Given the description of an element on the screen output the (x, y) to click on. 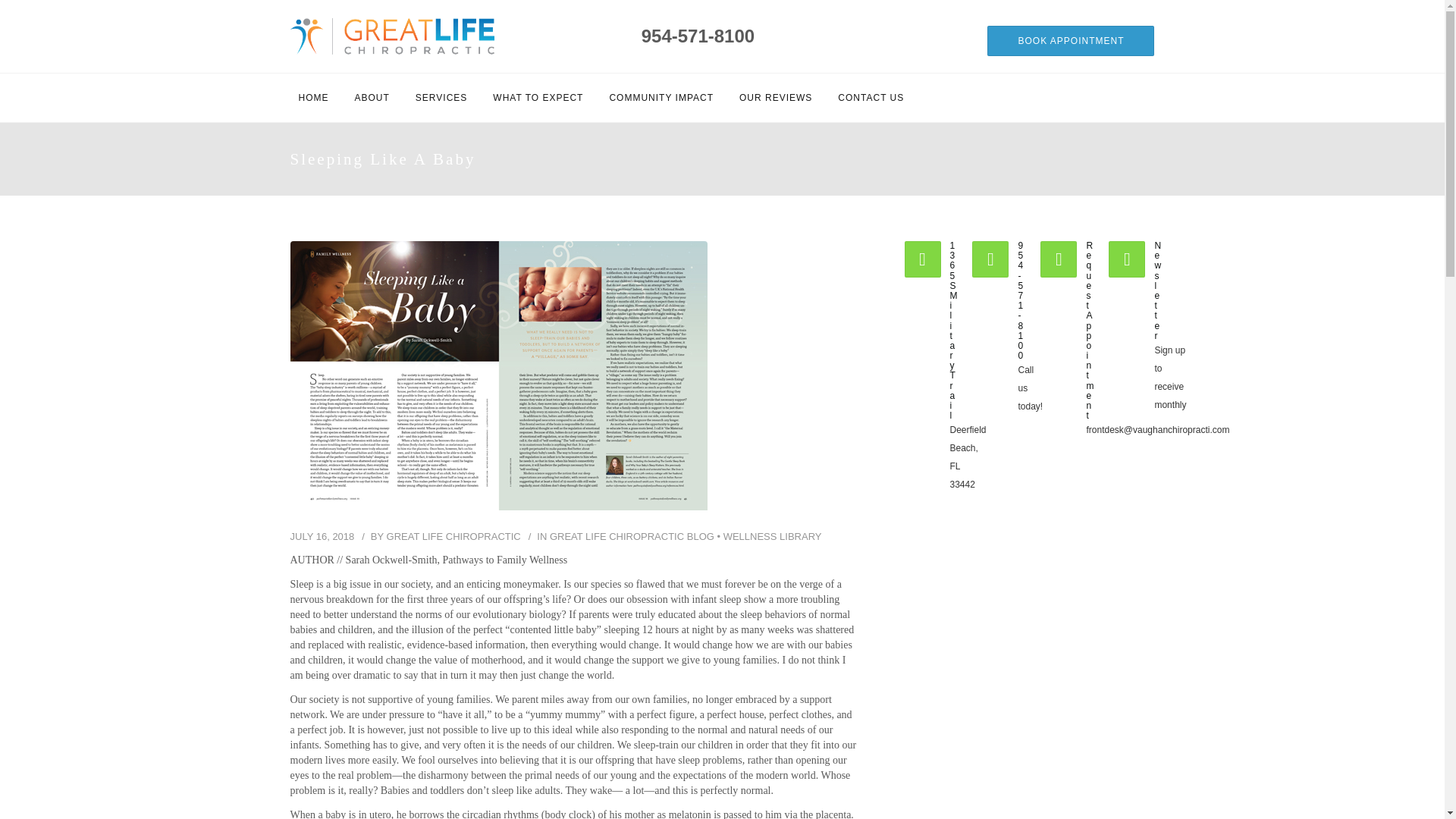
WHAT TO EXPECT (537, 97)
SERVICES (441, 97)
BOOK APPOINTMENT (1070, 40)
HOME (312, 97)
ABOUT (371, 97)
